Given the description of an element on the screen output the (x, y) to click on. 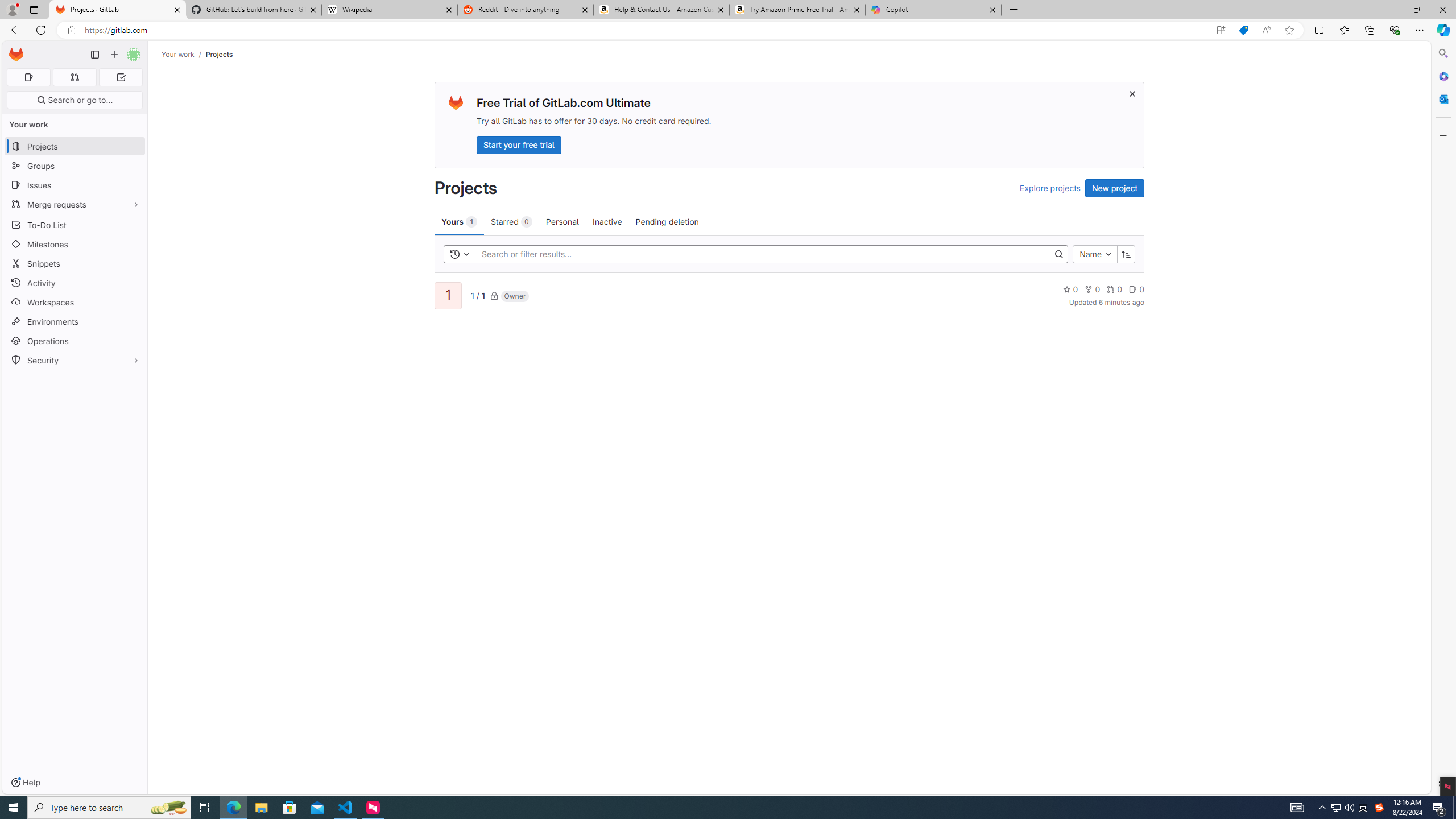
To-Do list 0 (120, 76)
Issues (74, 185)
Merge requests (74, 203)
Name (1095, 253)
Projects (218, 53)
